Given the description of an element on the screen output the (x, y) to click on. 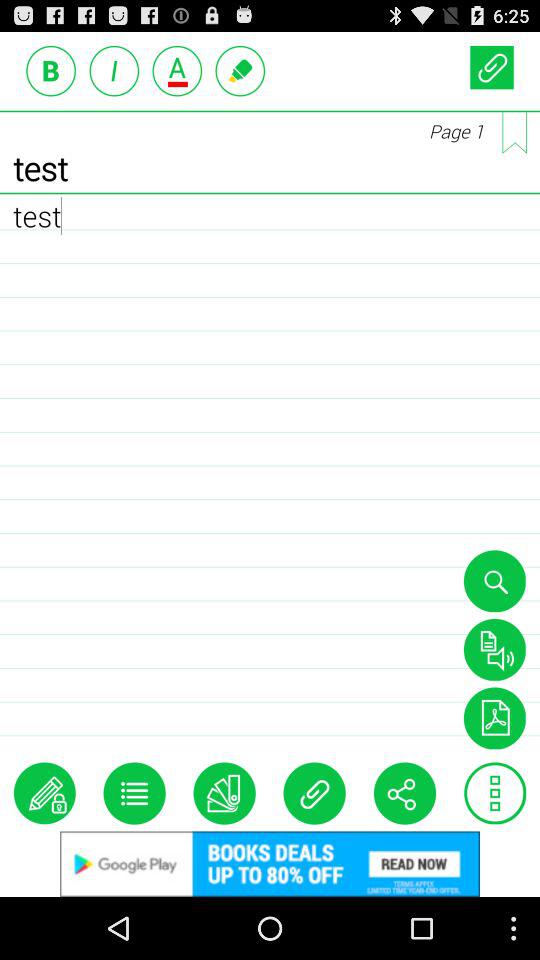
save (494, 718)
